Given the description of an element on the screen output the (x, y) to click on. 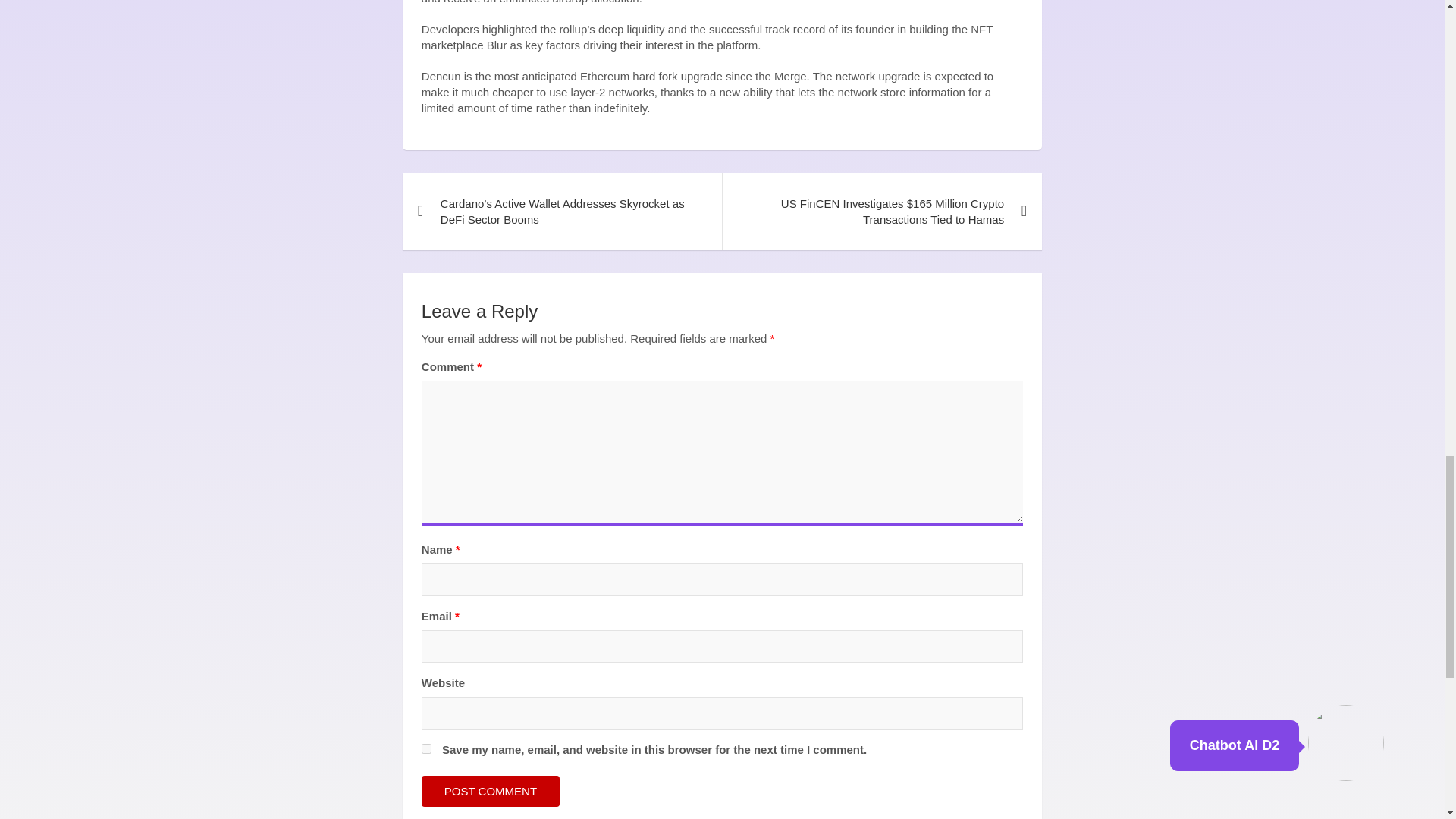
yes (426, 748)
Post Comment (490, 790)
Post Comment (490, 790)
